Given the description of an element on the screen output the (x, y) to click on. 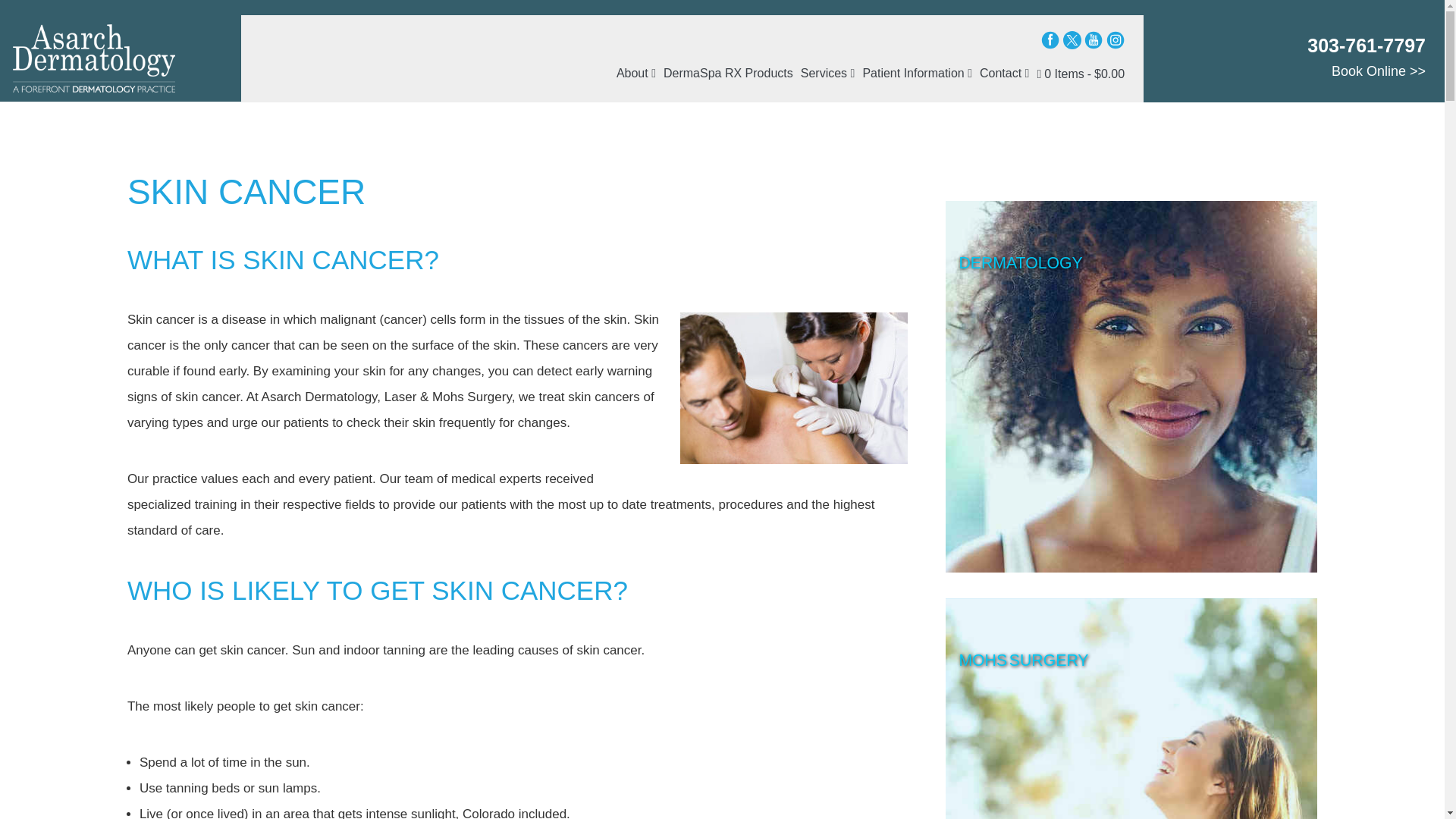
DermaSpa RX Products (727, 71)
Start shopping (1078, 72)
Skin Cancer Engelwood CO (793, 388)
Services (827, 71)
About (637, 71)
